Given the description of an element on the screen output the (x, y) to click on. 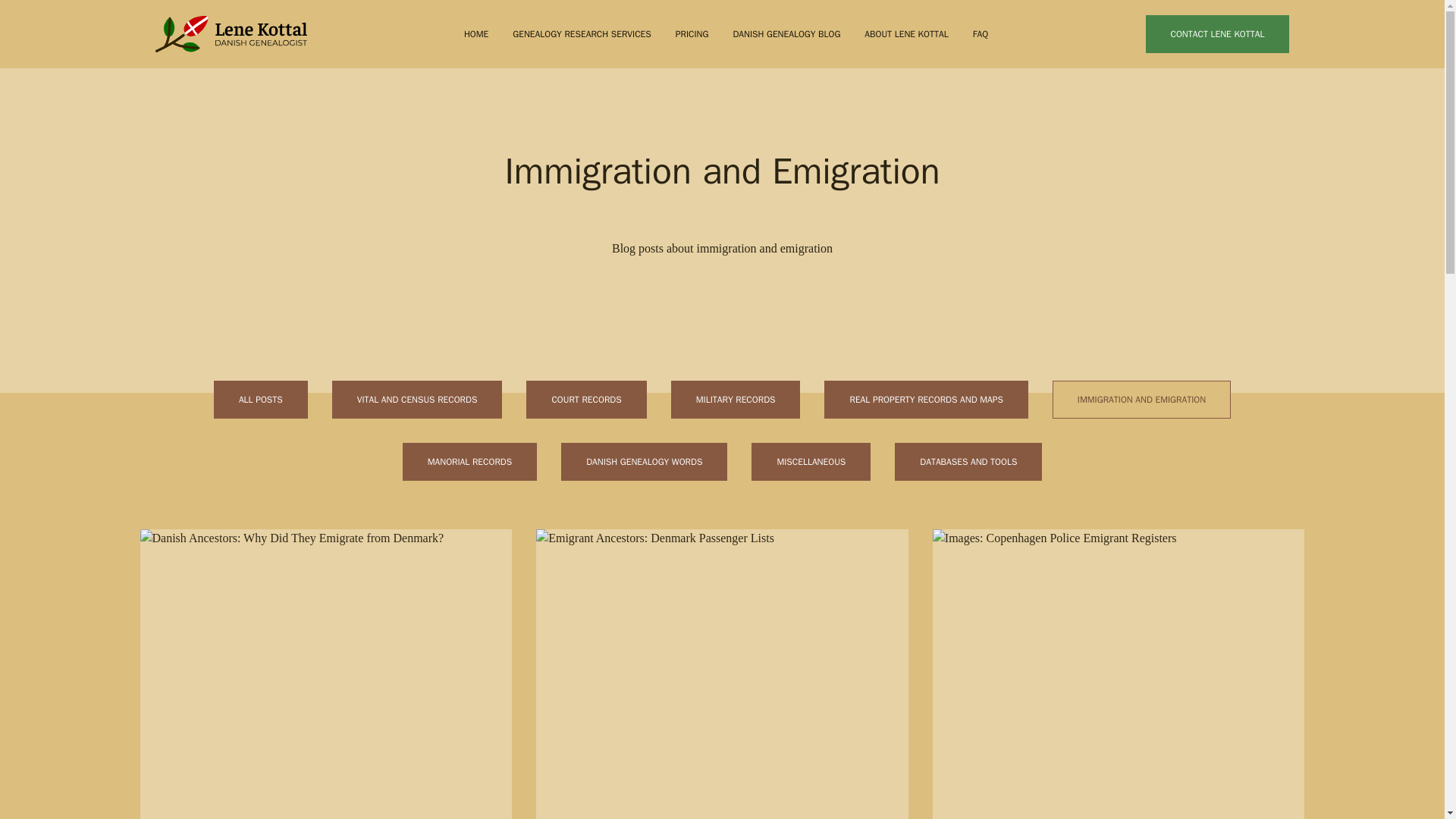
FAQ (980, 33)
DATABASES AND TOOLS (968, 461)
HOME (476, 33)
GENEALOGY RESEARCH SERVICES (581, 33)
MILITARY RECORDS (735, 399)
ABOUT LENE KOTTAL (906, 33)
IMMIGRATION AND EMIGRATION (1141, 399)
DANISH GENEALOGY BLOG (785, 33)
DANISH GENEALOGY WORDS (643, 461)
PRICING (691, 33)
MANORIAL RECORDS (470, 461)
VITAL AND CENSUS RECORDS (416, 399)
COURT RECORDS (585, 399)
ALL POSTS (260, 399)
MISCELLANEOUS (810, 461)
